Given the description of an element on the screen output the (x, y) to click on. 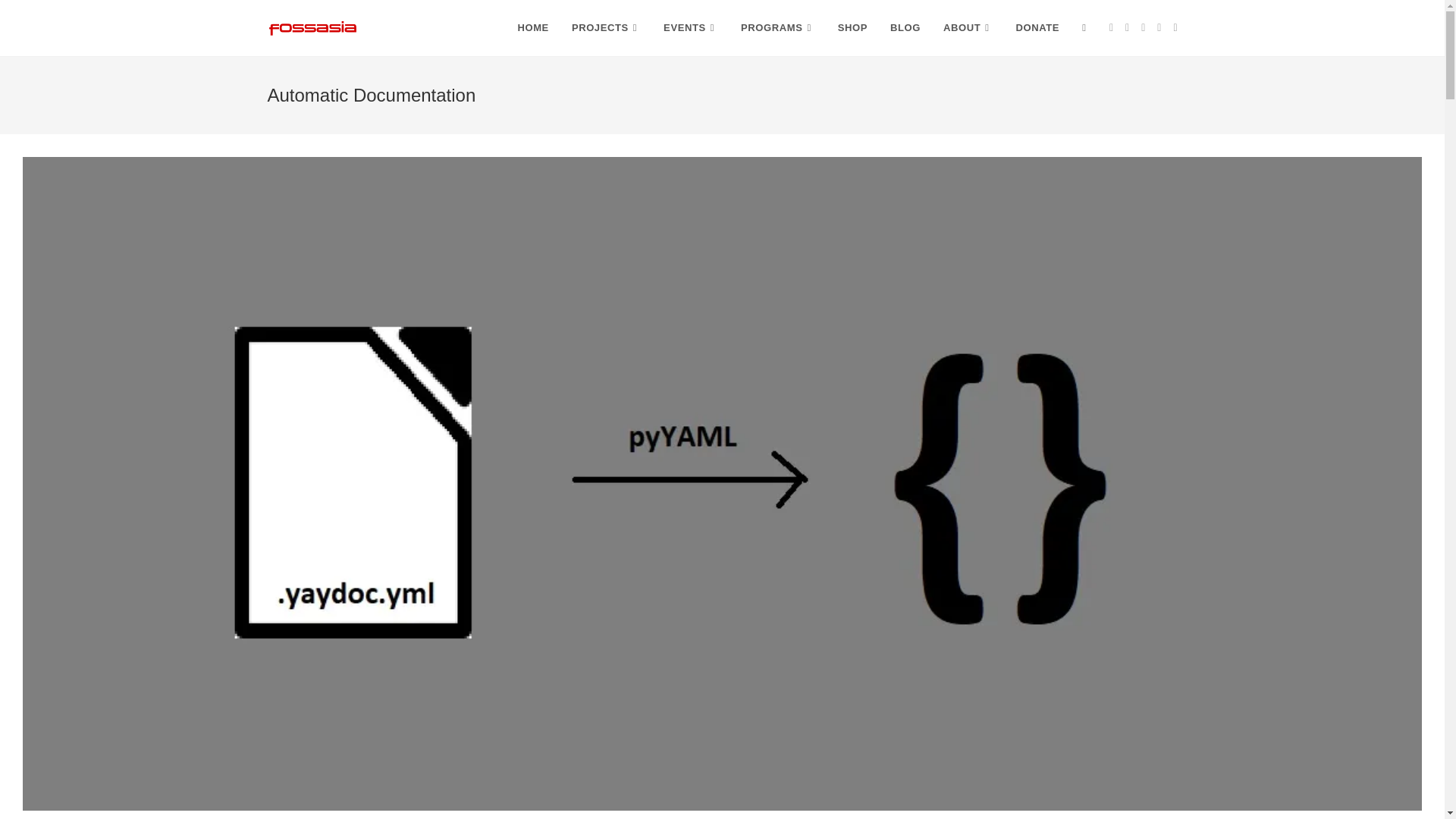
HOME (532, 28)
EVENTS (690, 28)
PROGRAMS (778, 28)
PROJECTS (606, 28)
